Given the description of an element on the screen output the (x, y) to click on. 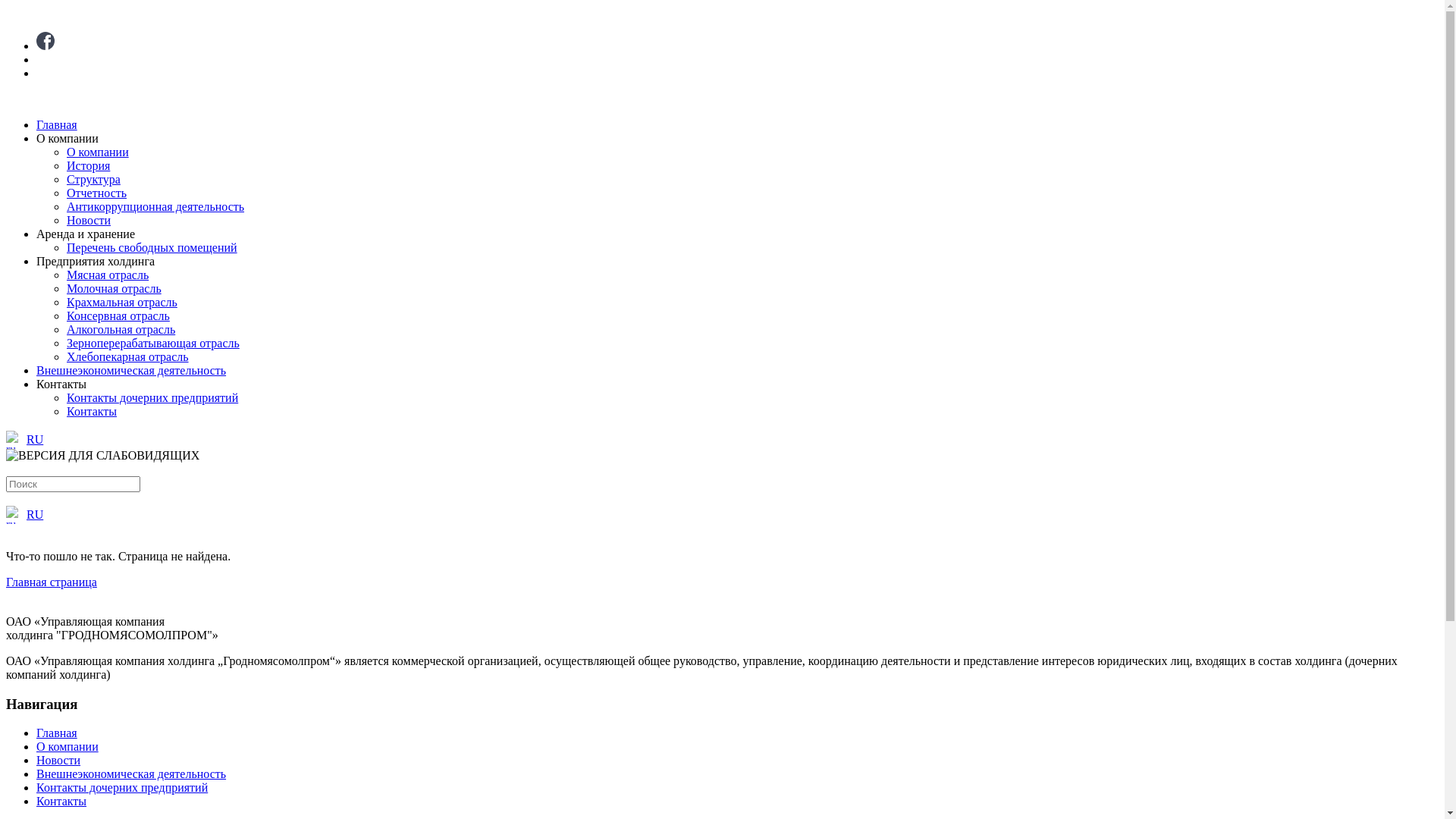
RU Element type: text (722, 439)
RU Element type: text (722, 514)
